Given the description of an element on the screen output the (x, y) to click on. 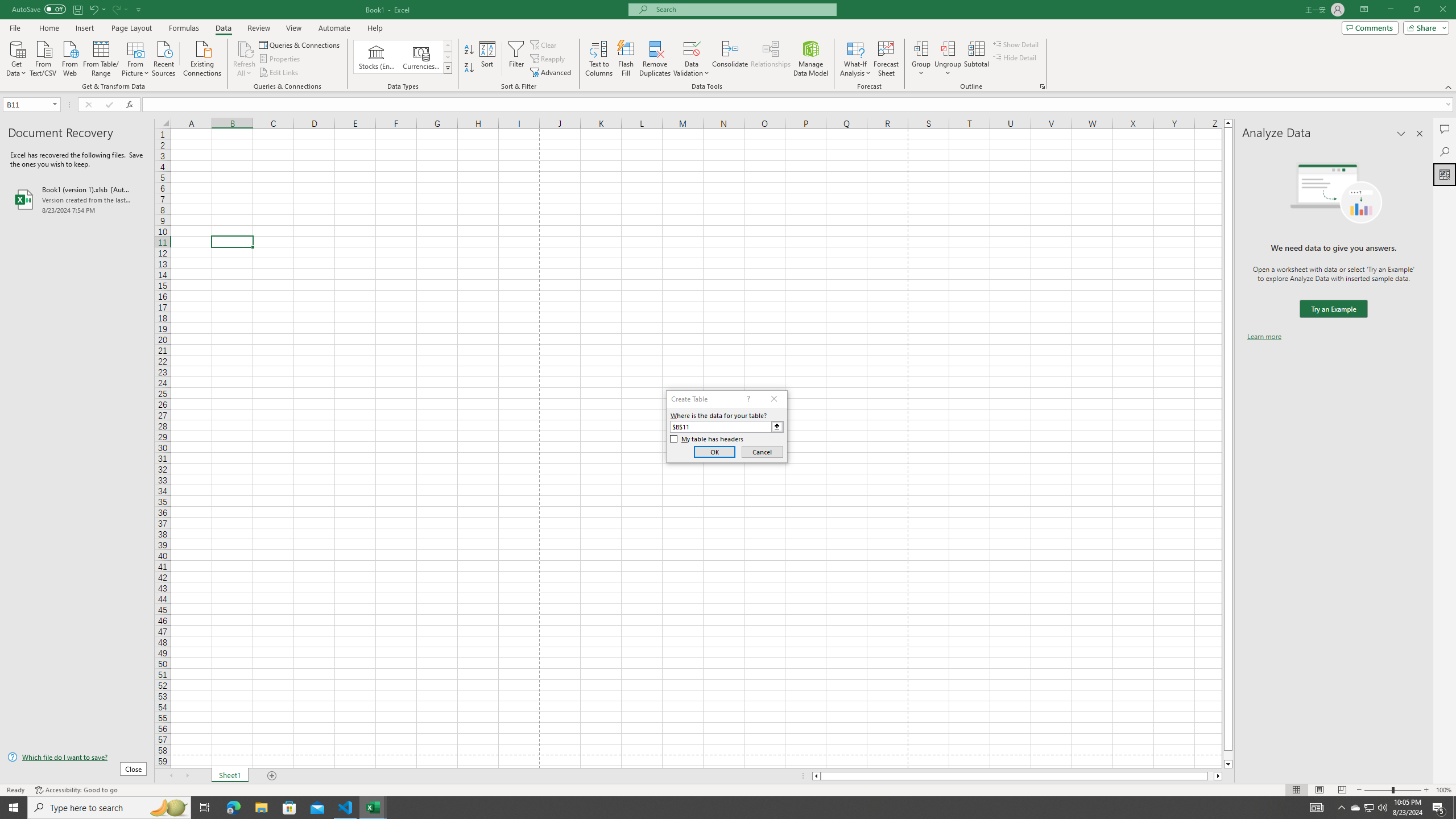
Row up (448, 45)
Existing Connections (202, 57)
Name Box (27, 104)
AutomationID: ConvertToLinkedEntity (403, 56)
Save (77, 9)
Learn more (1264, 336)
Book1 (version 1).xlsb  [AutoRecovered] (77, 199)
Forecast Sheet (885, 58)
Home (48, 28)
Data Validation... (691, 58)
Customize Quick Access Toolbar (139, 9)
Accessibility Checker Accessibility: Good to go (76, 790)
Stocks (English) (375, 56)
Data (223, 28)
Scroll Right (187, 775)
